Given the description of an element on the screen output the (x, y) to click on. 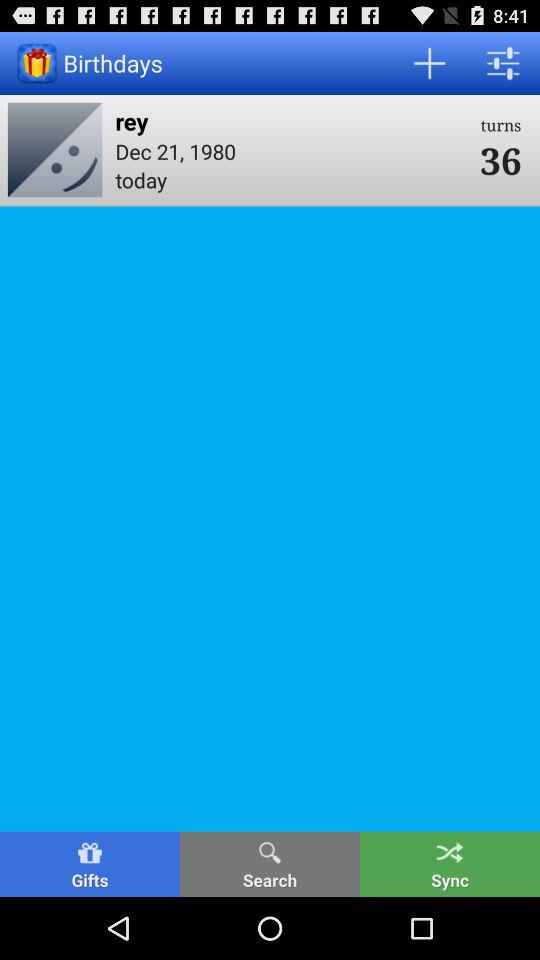
launch the item above the today app (291, 150)
